Given the description of an element on the screen output the (x, y) to click on. 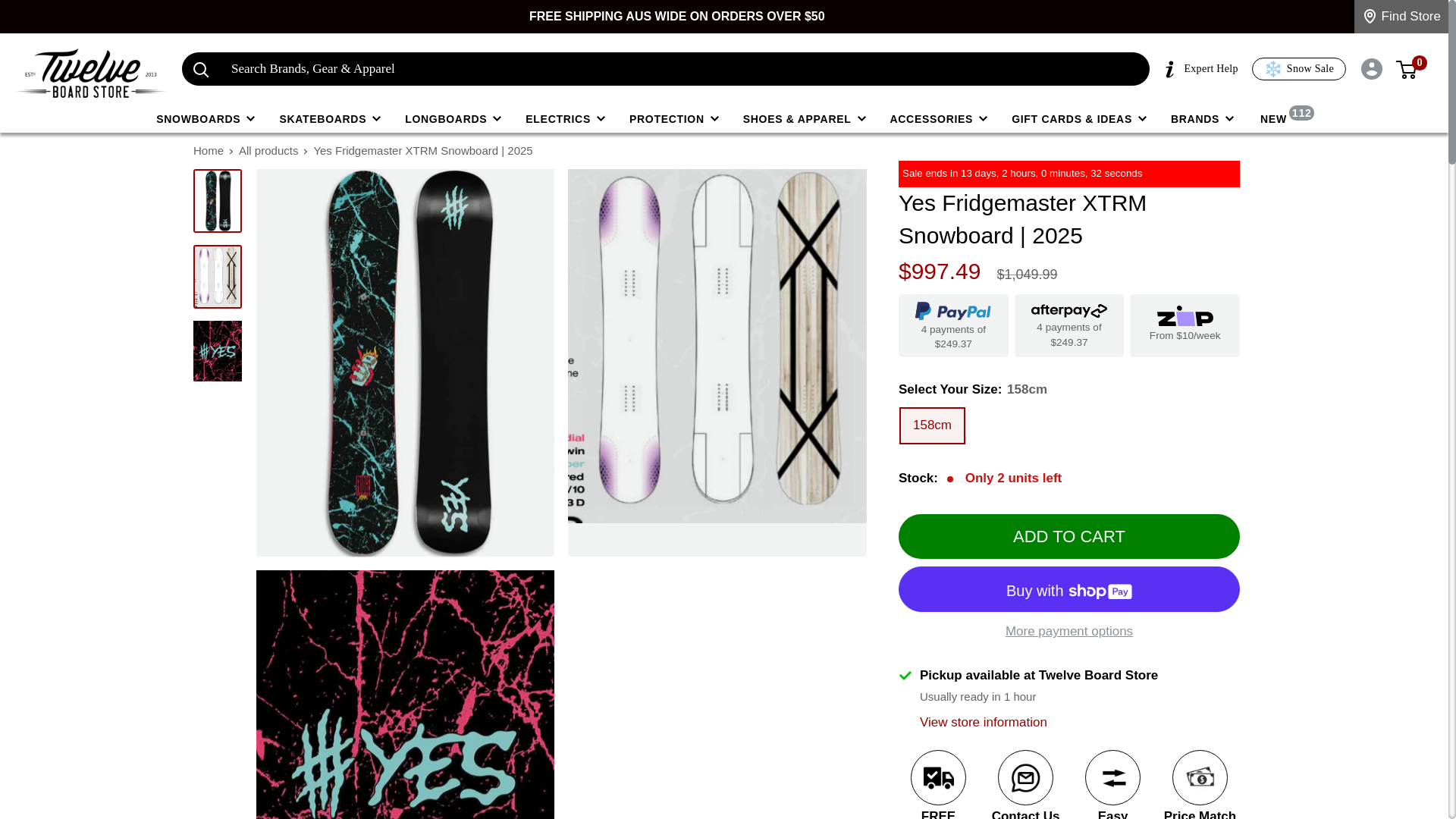
158cm (931, 425)
Find Store (1401, 16)
